Given the description of an element on the screen output the (x, y) to click on. 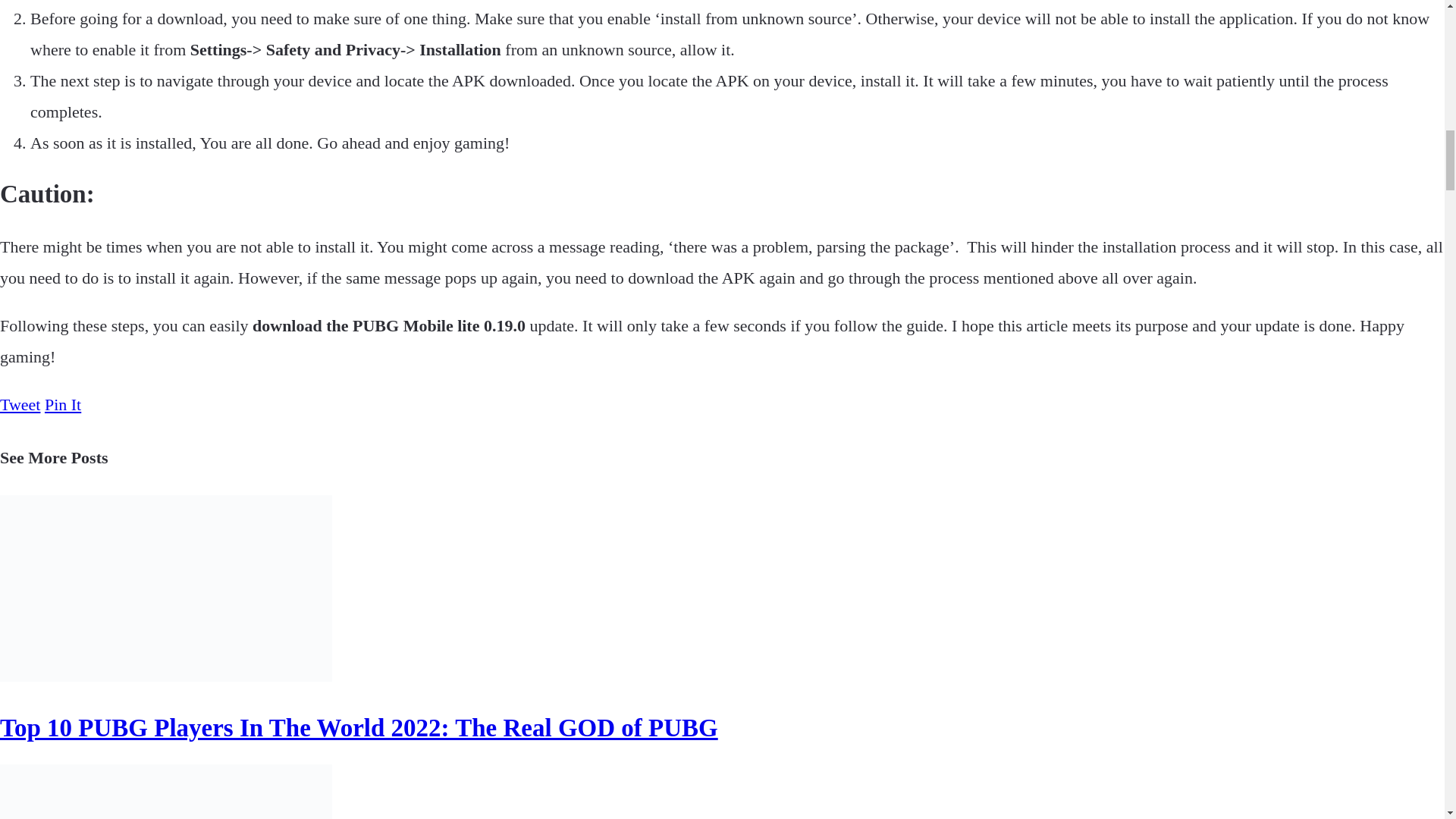
Tweet (20, 404)
Top 10 PUBG Players In The World 2022: The Real GOD of PUBG (358, 728)
Top 10 PUBG Players In The World 2022: The Real GOD of PUBG (358, 728)
Pin It (63, 404)
